Given the description of an element on the screen output the (x, y) to click on. 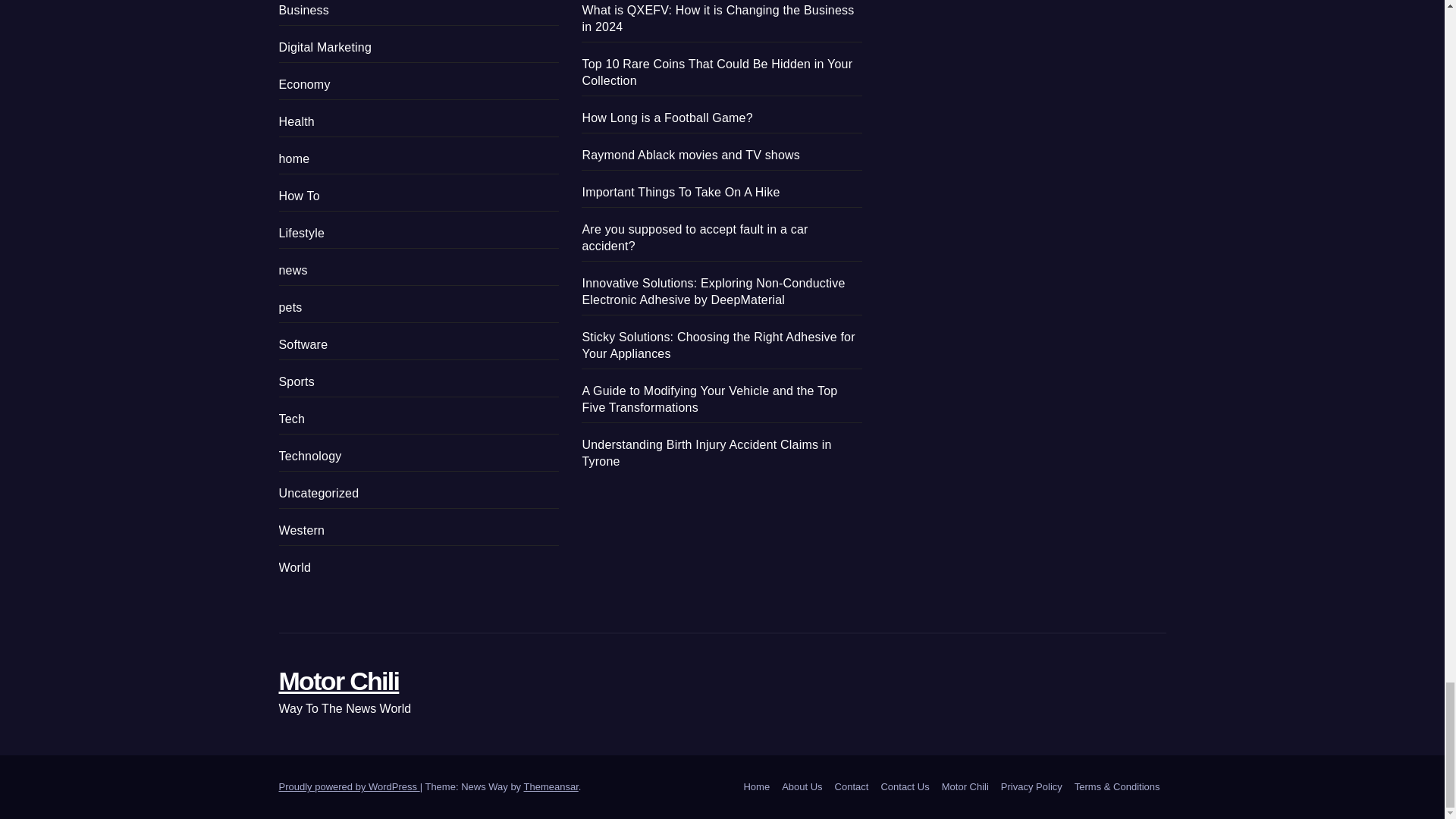
Home (756, 786)
